Given the description of an element on the screen output the (x, y) to click on. 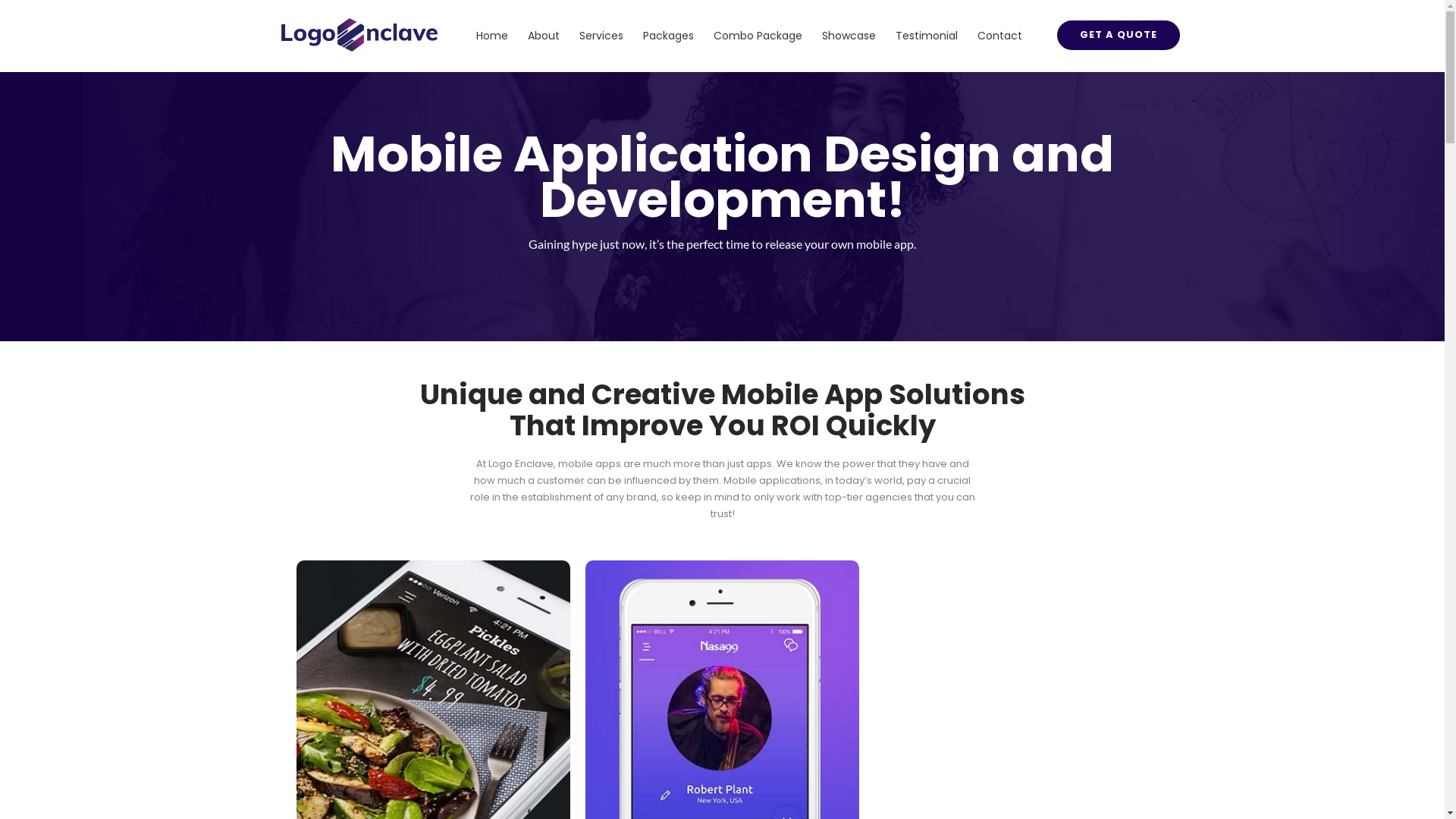
Packages Element type: text (667, 36)
Home Element type: text (491, 36)
Combo Package Element type: text (757, 36)
Contact Element type: text (999, 36)
Services Element type: text (600, 36)
Testimonial Element type: text (926, 36)
About Element type: text (542, 36)
Showcase Element type: text (847, 36)
GET A QUOTE Element type: text (1118, 34)
